Given the description of an element on the screen output the (x, y) to click on. 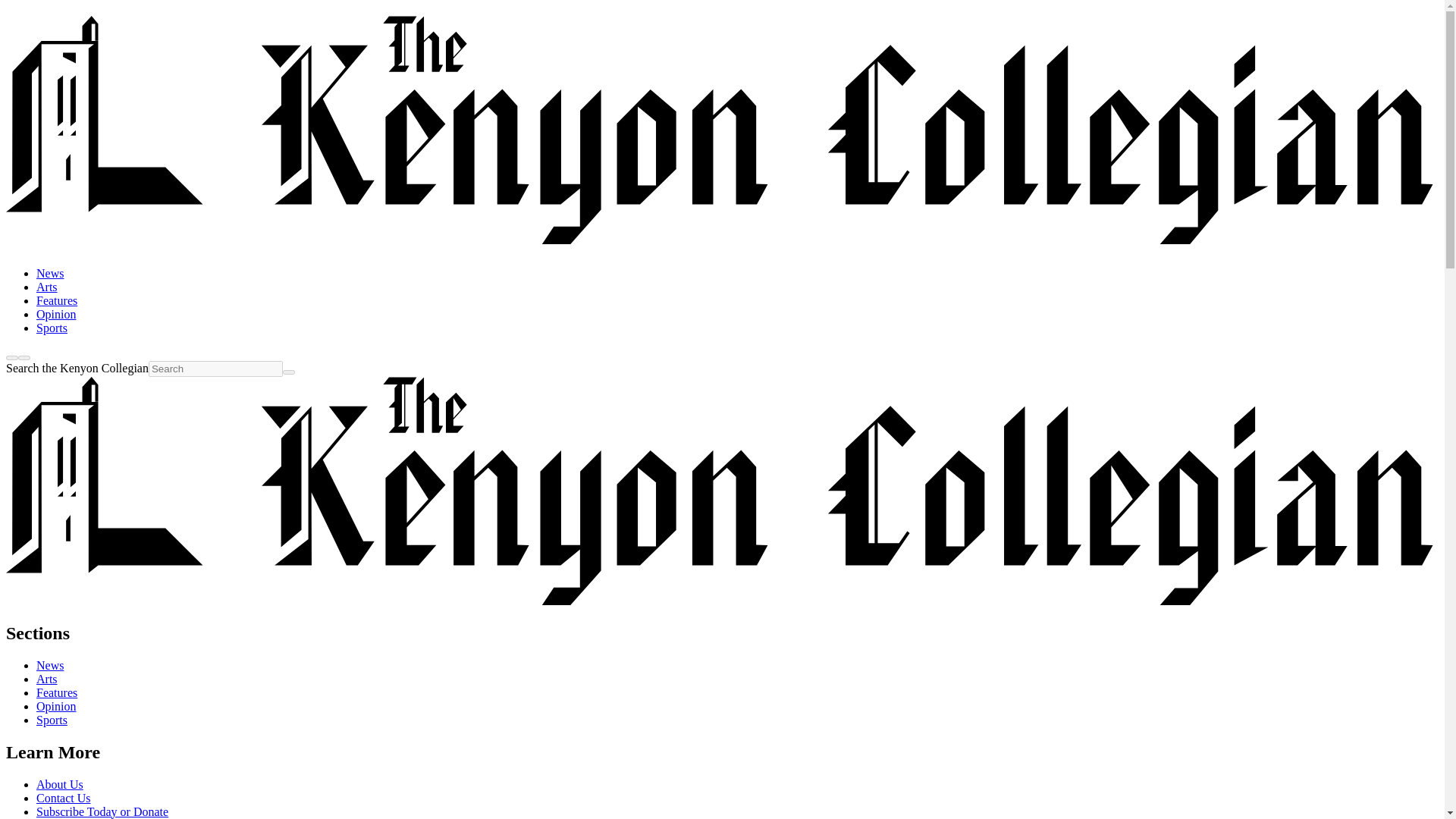
Opinion (55, 706)
Arts (47, 286)
Subscribe Today or Donate (102, 811)
Contact Us (63, 797)
Features (56, 692)
Arts (47, 678)
Sports (51, 327)
About Us (59, 784)
Sports (51, 719)
News (50, 665)
Features (56, 300)
News (50, 273)
Opinion (55, 314)
